Given the description of an element on the screen output the (x, y) to click on. 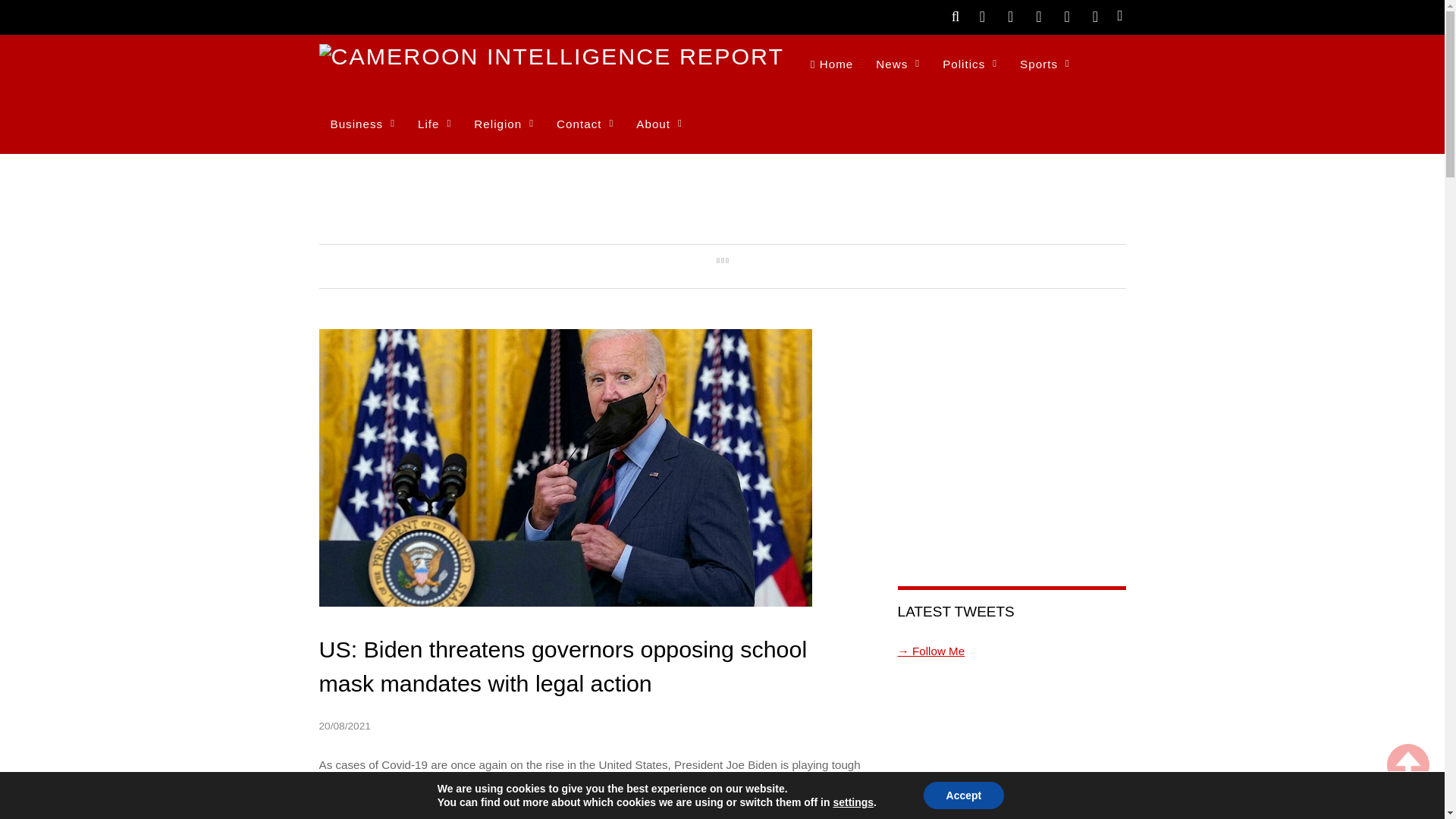
Politics (970, 65)
YouTube (1067, 15)
Cameroon Intelligence Report (551, 56)
News (897, 65)
Linkedin (1094, 15)
Religion (503, 124)
Life (434, 124)
Home (831, 65)
Facebook (1011, 15)
Contact (584, 124)
